Given the description of an element on the screen output the (x, y) to click on. 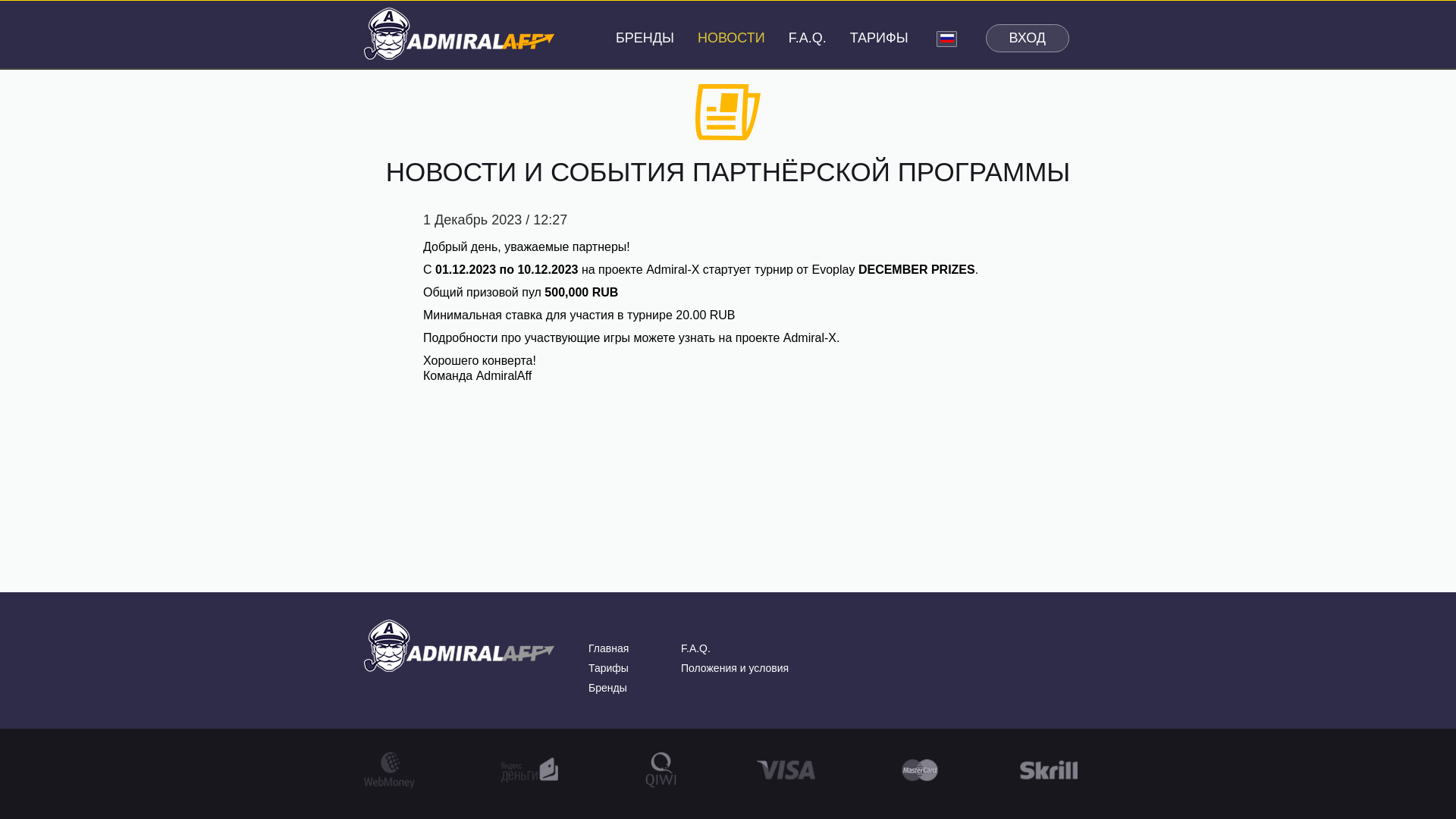
F.A.Q. (695, 648)
F.A.Q. (808, 37)
AdmiralAFF (459, 31)
AdmiralAFF (459, 646)
